Given the description of an element on the screen output the (x, y) to click on. 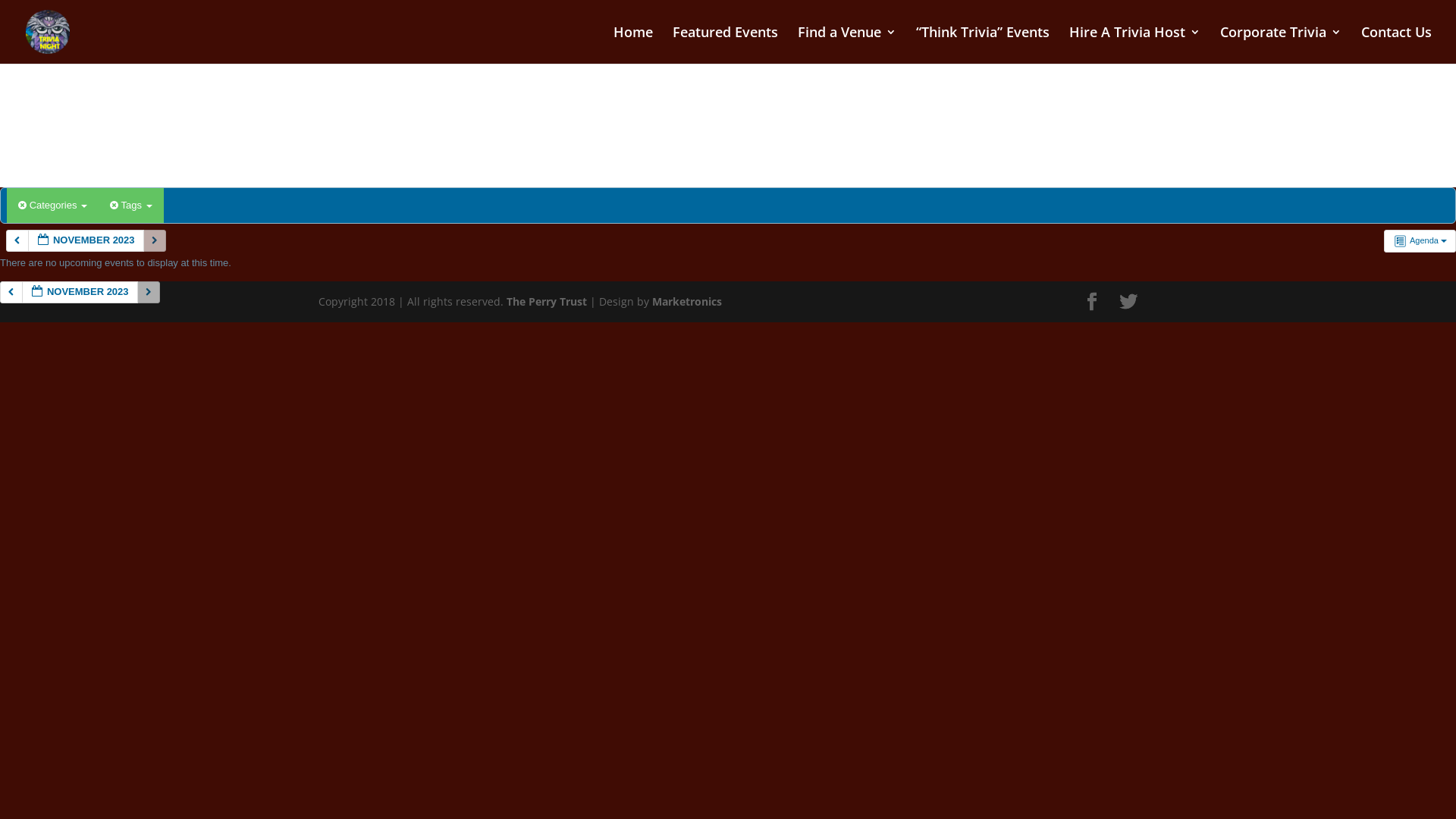
Find a Venue Element type: text (846, 44)
Corporate Trivia Element type: text (1280, 44)
NOVEMBER 2023 Element type: text (79, 292)
Clear category filter Element type: hover (23, 204)
Tags Element type: text (130, 205)
NOVEMBER 2023 Element type: text (86, 240)
Categories Element type: text (52, 205)
Featured Events Element type: text (725, 44)
Clear tag filter Element type: hover (114, 204)
The Perry Trust Element type: text (546, 301)
Hire A Trivia Host Element type: text (1134, 44)
Marketronics Element type: text (686, 301)
Home Element type: text (632, 44)
Contact Us Element type: text (1396, 44)
